Given the description of an element on the screen output the (x, y) to click on. 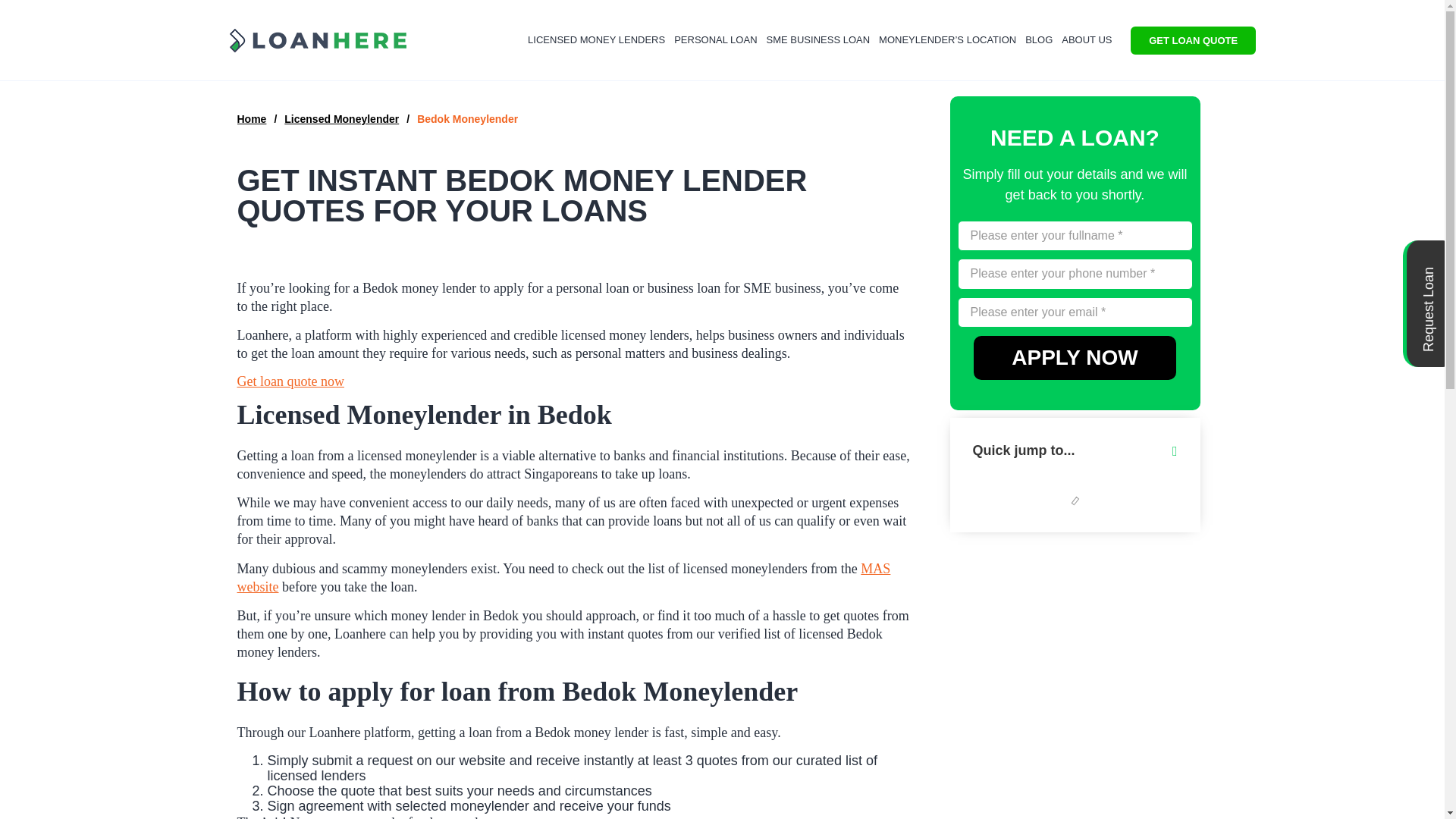
ABOUT US (1086, 39)
PERSONAL LOAN (715, 39)
LICENSED MONEY LENDERS (595, 39)
SME BUSINESS LOAN (818, 39)
BLOG (1038, 39)
